Given the description of an element on the screen output the (x, y) to click on. 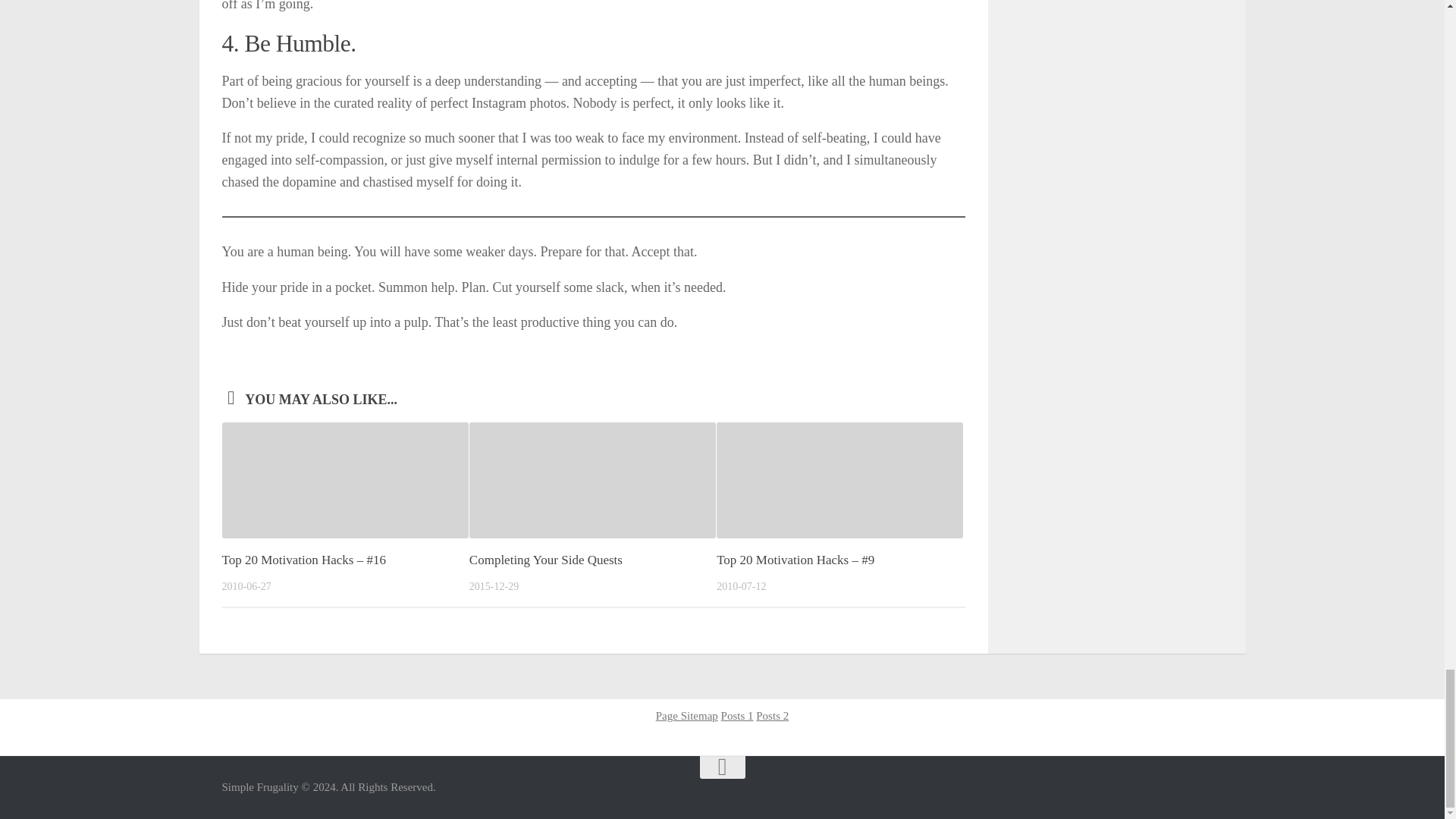
Completing Your Side Quests (545, 559)
